Given the description of an element on the screen output the (x, y) to click on. 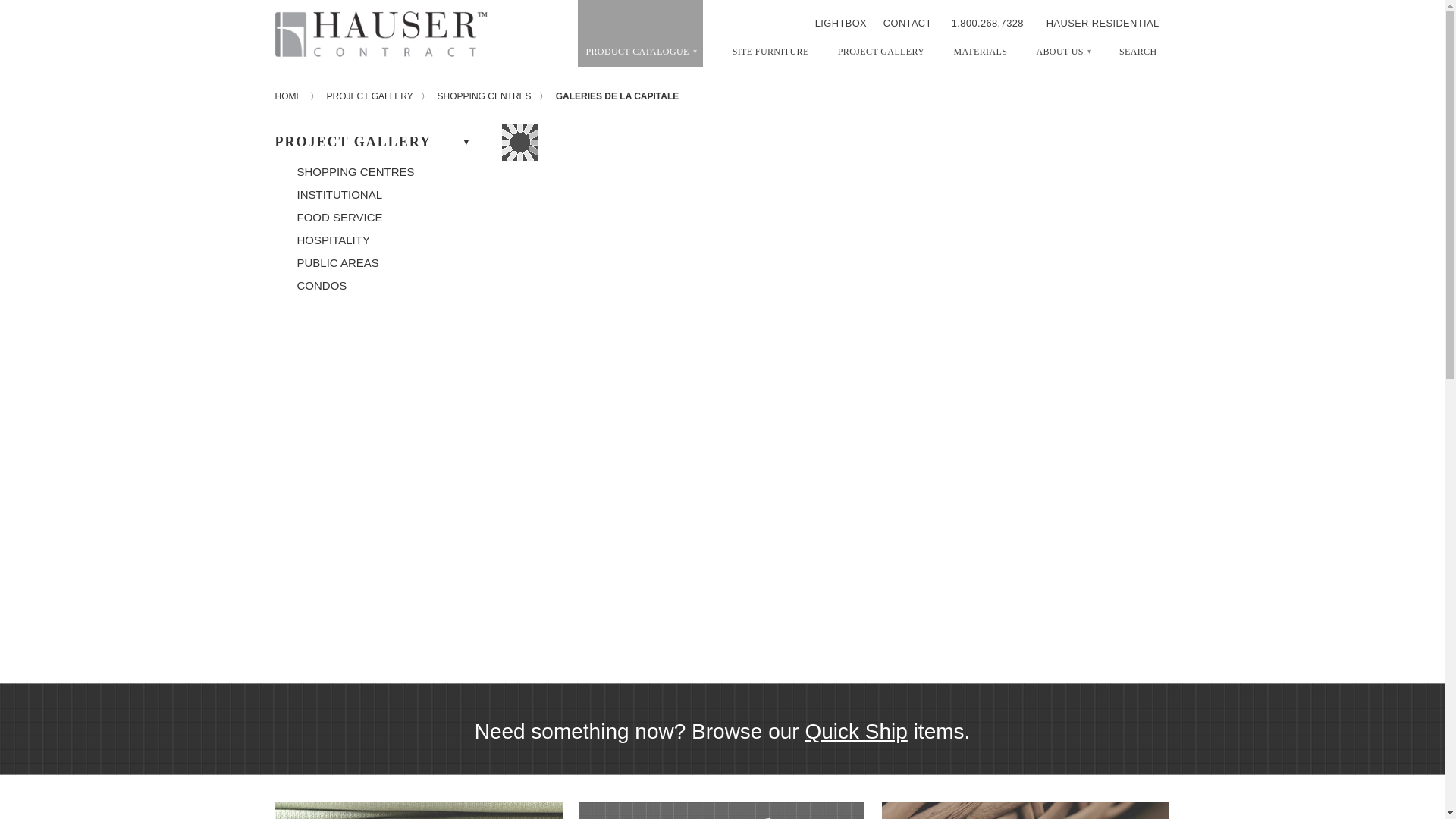
CONTACT (902, 23)
SITE FURNITURE (770, 54)
MATERIALS (980, 54)
LIGHTBOX (849, 23)
Site Furniture (770, 54)
HAUSER RESIDENTIAL (1102, 23)
Product Catalogue (640, 33)
PROJECT GALLERY (881, 54)
Hauser Contract (380, 33)
